Given the description of an element on the screen output the (x, y) to click on. 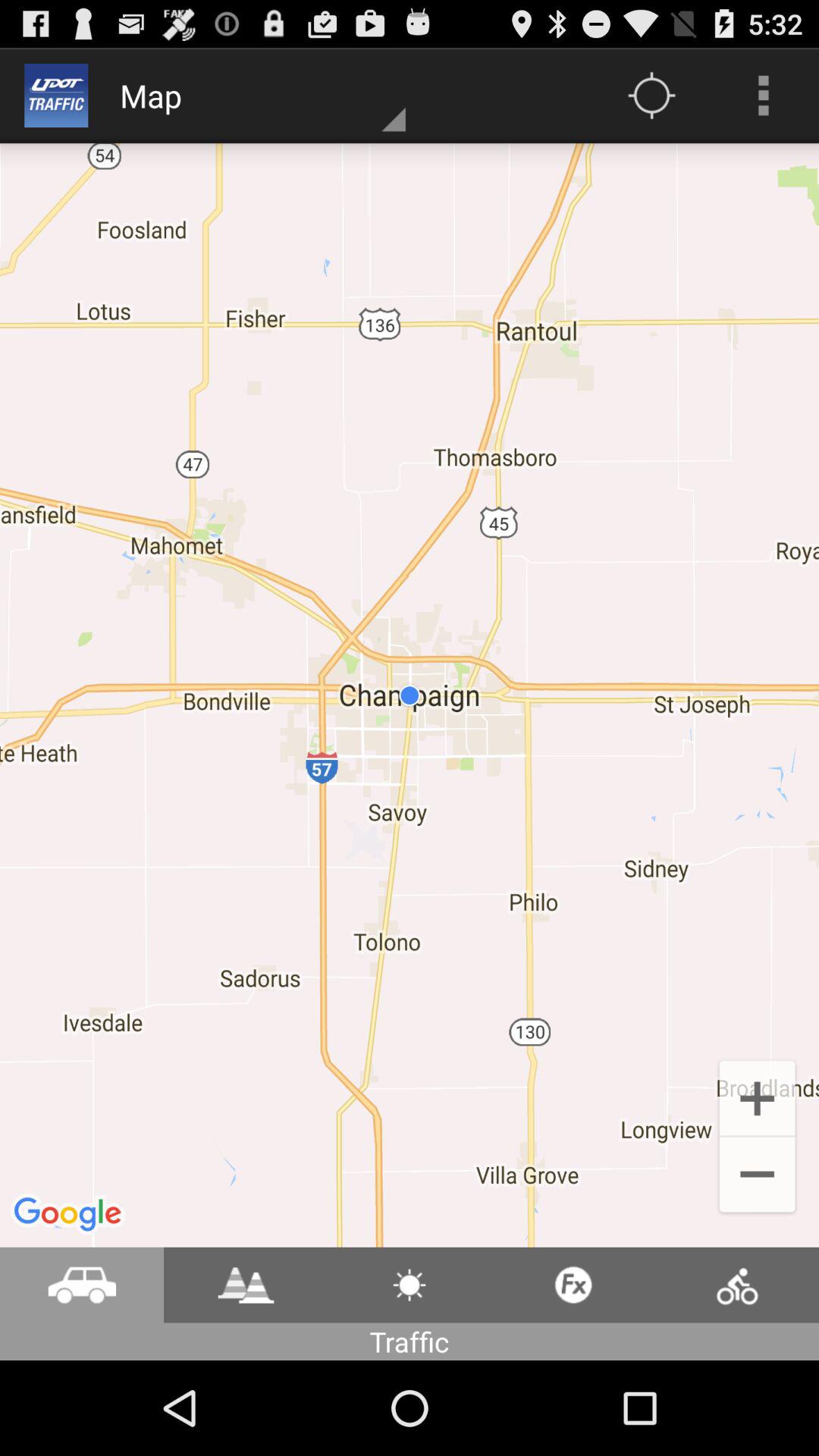
see works obstacles (245, 1284)
